Given the description of an element on the screen output the (x, y) to click on. 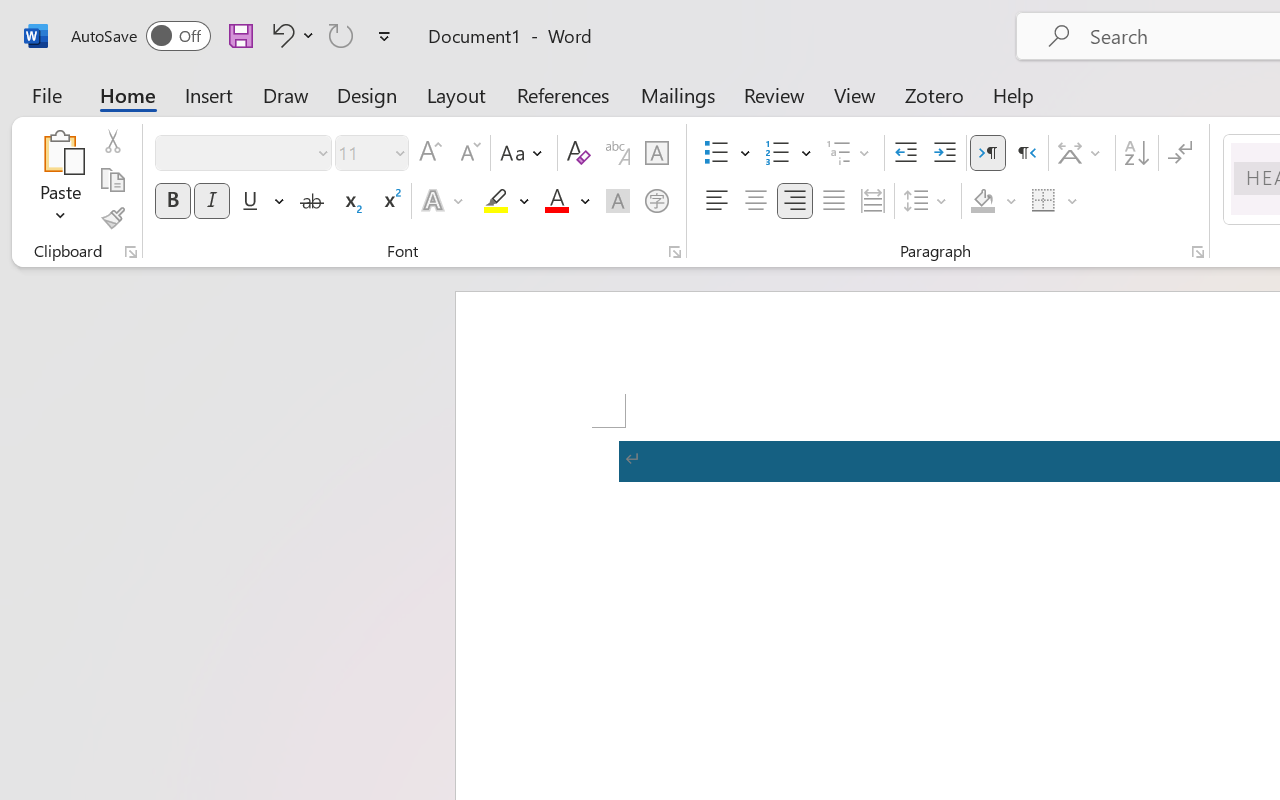
Text Highlight Color RGB(255, 255, 0) (495, 201)
Undo (290, 35)
